Given the description of an element on the screen output the (x, y) to click on. 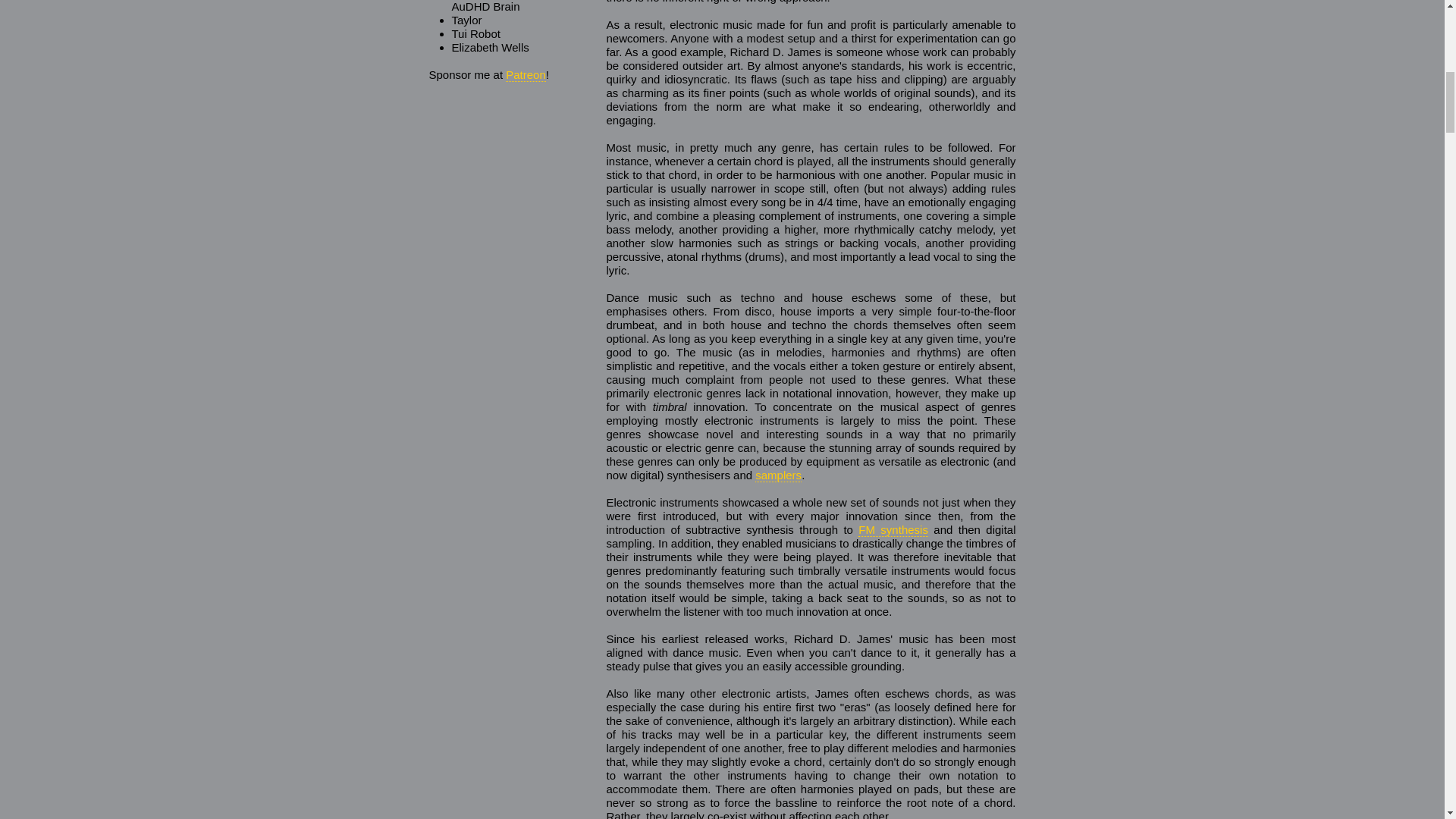
Patreon (525, 74)
FM synthesis (893, 530)
Sampler (778, 475)
FM synthesis (893, 530)
samplers (778, 475)
